Given the description of an element on the screen output the (x, y) to click on. 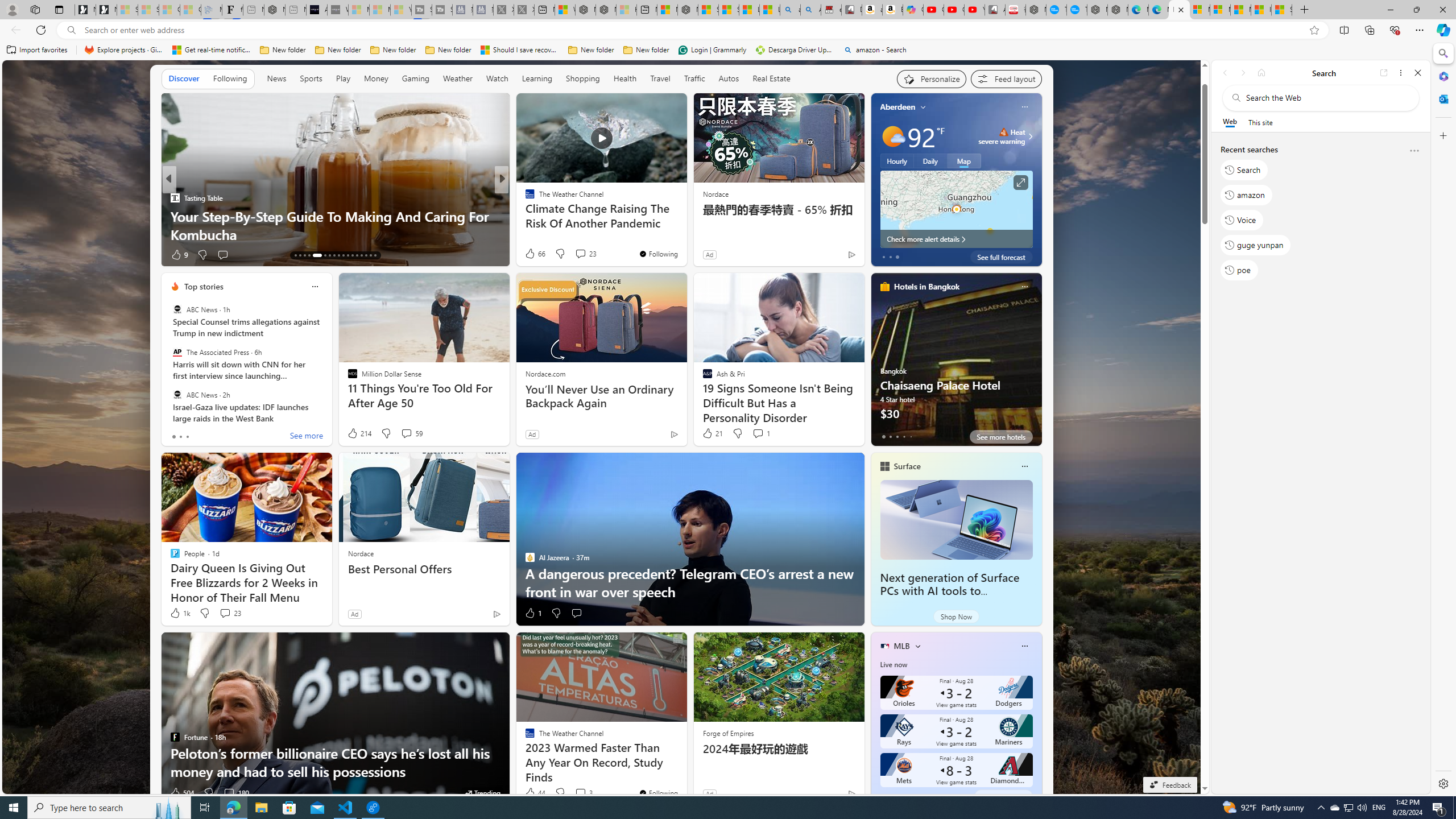
AutomationID: tab-22 (343, 255)
View comments 2 Comment (580, 254)
View comments 59 Comment (406, 432)
Web scope (1230, 121)
Favorites bar (715, 49)
Shop Now (956, 616)
View comments 50 Comment (581, 254)
Aberdeen (897, 106)
Forge of Empires (727, 732)
